Given the description of an element on the screen output the (x, y) to click on. 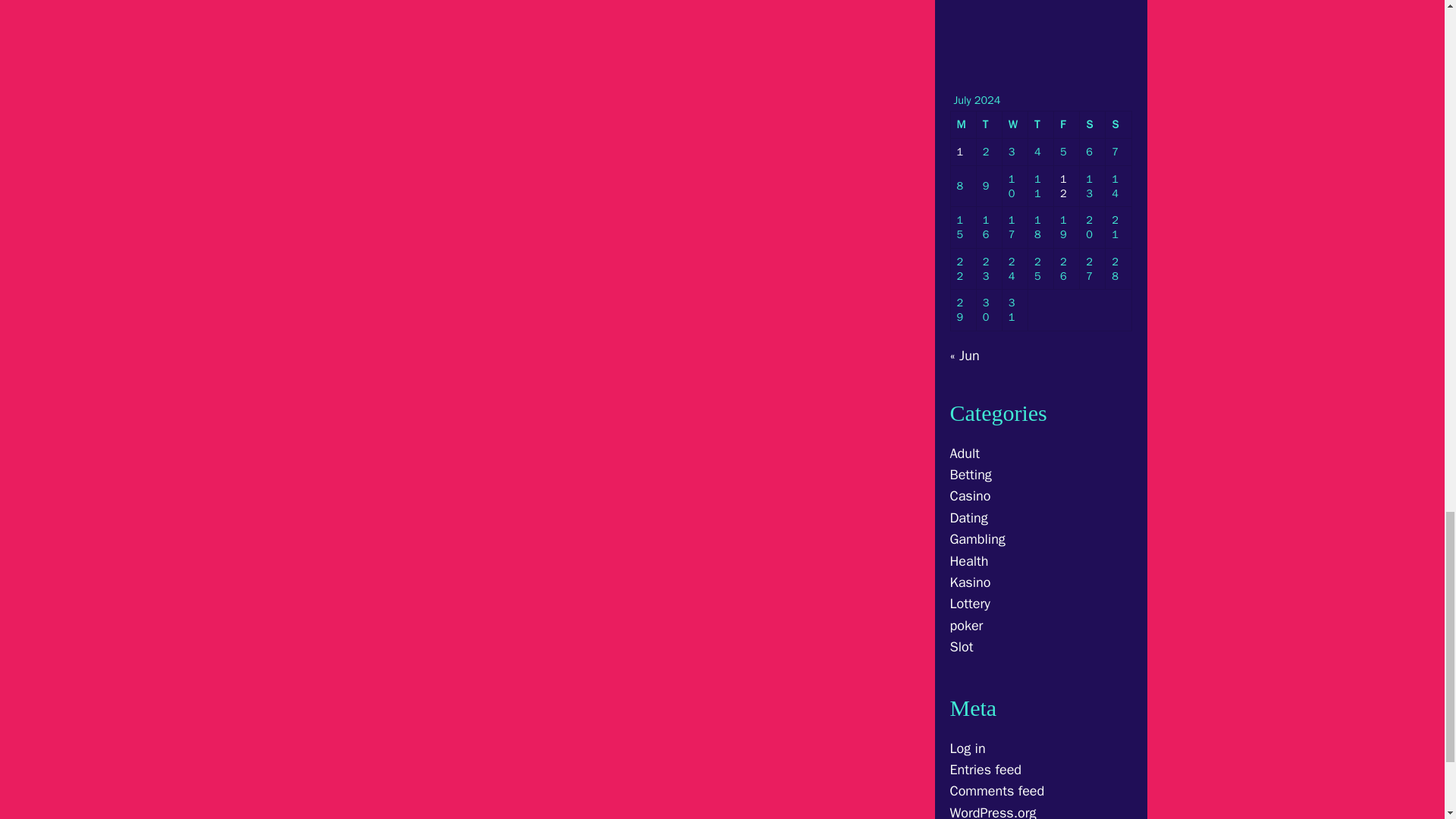
Tuesday (989, 124)
Thursday (1040, 124)
Monday (963, 124)
Saturday (1092, 124)
Wednesday (1015, 124)
Sunday (1118, 124)
Friday (1067, 124)
